Given the description of an element on the screen output the (x, y) to click on. 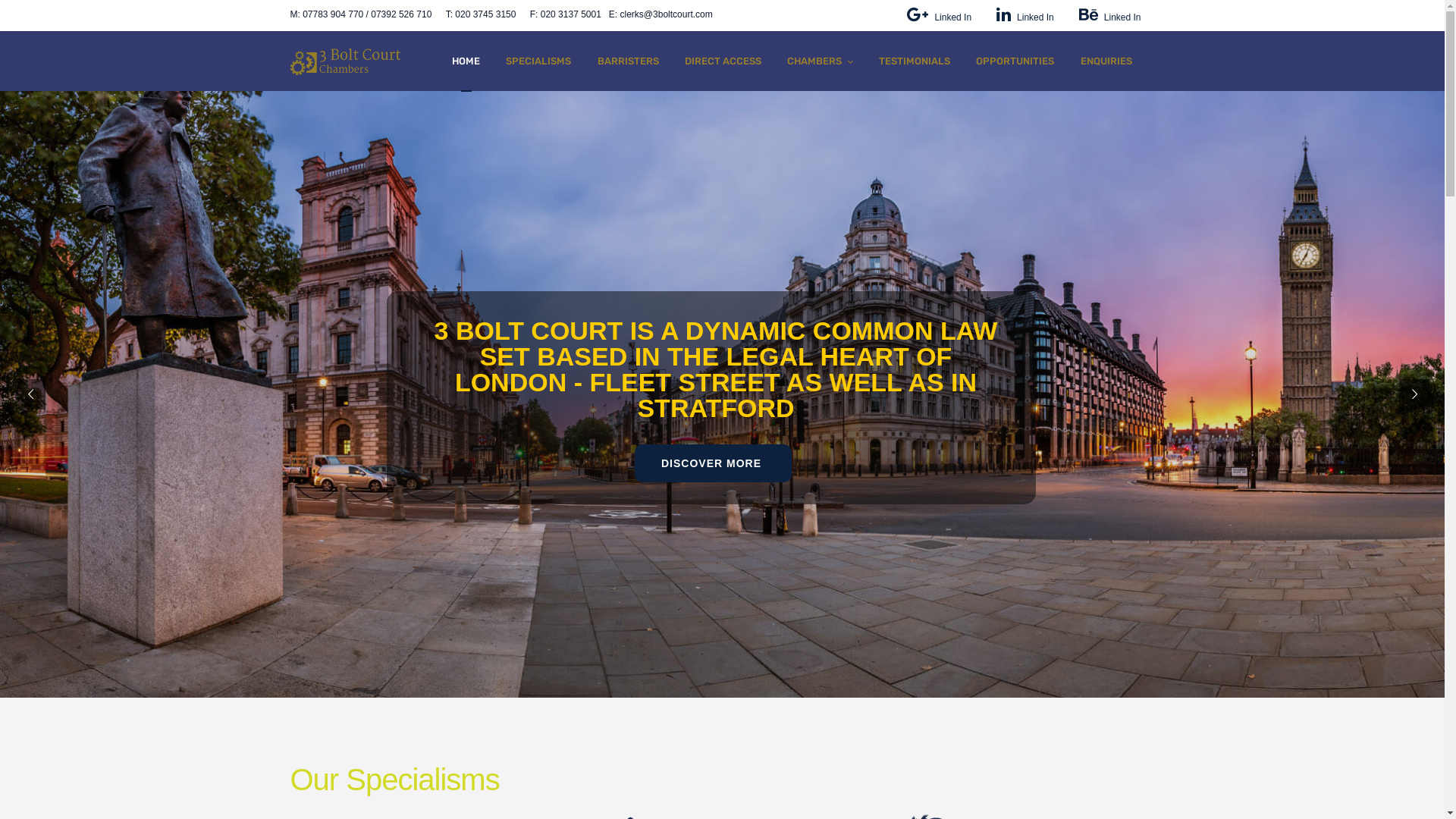
SPECIALISMS Element type: text (538, 61)
OPPORTUNITIES Element type: text (1014, 61)
TESTIMONIALS Element type: text (914, 61)
CHAMBERS Element type: text (820, 61)
BARRISTERS Element type: text (627, 61)
DIRECT ACCESS Element type: text (722, 61)
HOME Element type: text (465, 61)
ENQUIRIES Element type: text (1105, 61)
